Given the description of an element on the screen output the (x, y) to click on. 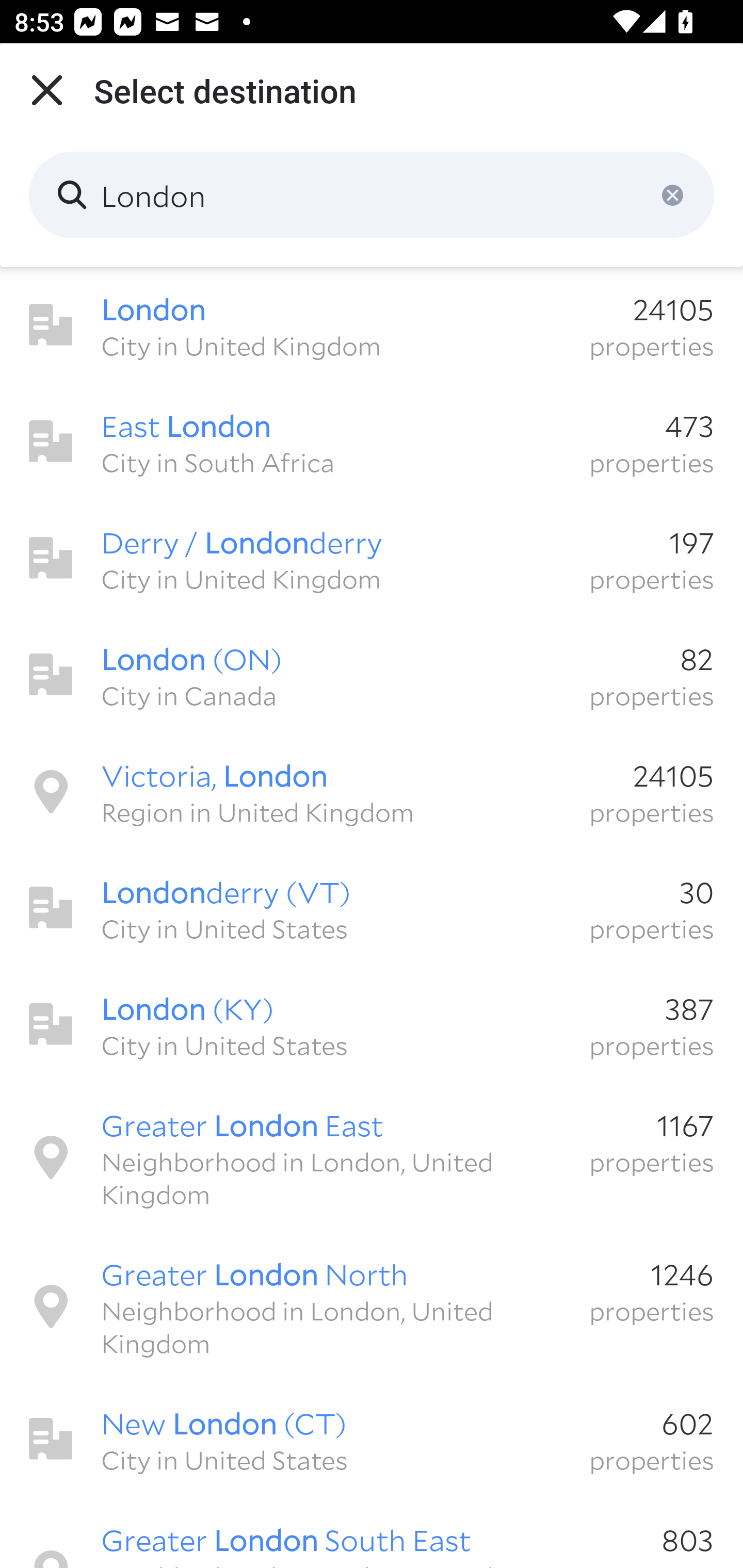
London (371, 195)
London 24105 City in United Kingdom properties (371, 325)
East London 473 City in South Africa properties (371, 442)
London (ON) 82 City in Canada properties (371, 674)
London (KY) 387 City in United States properties (371, 1024)
